Given the description of an element on the screen output the (x, y) to click on. 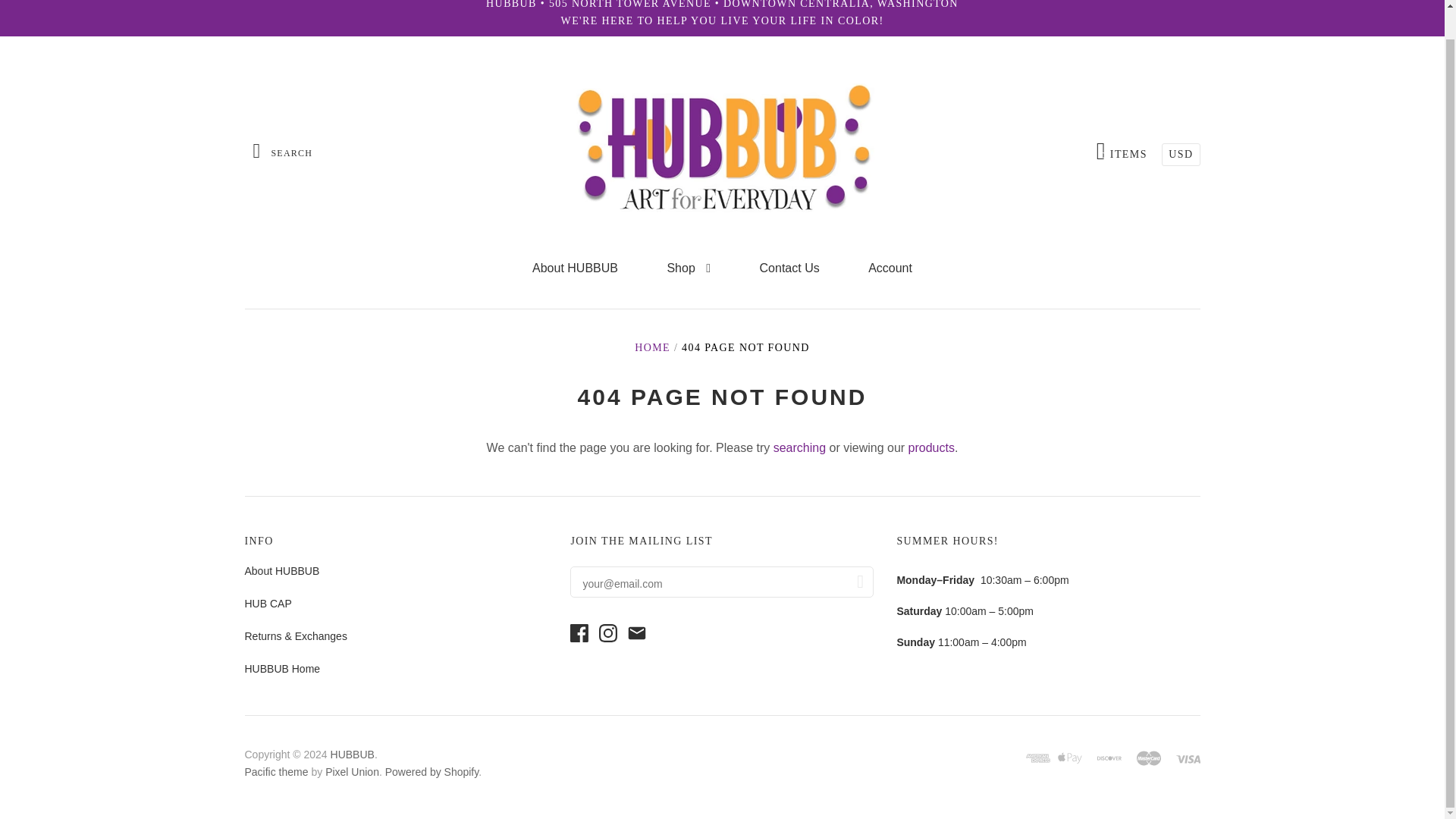
Facebook (582, 638)
Instagram (611, 638)
Mail (640, 638)
Contact Us (789, 268)
searching (799, 447)
Mail (636, 633)
Shop (688, 268)
About HUBBUB (281, 571)
About HUBBUB (574, 268)
Account (889, 268)
